Given the description of an element on the screen output the (x, y) to click on. 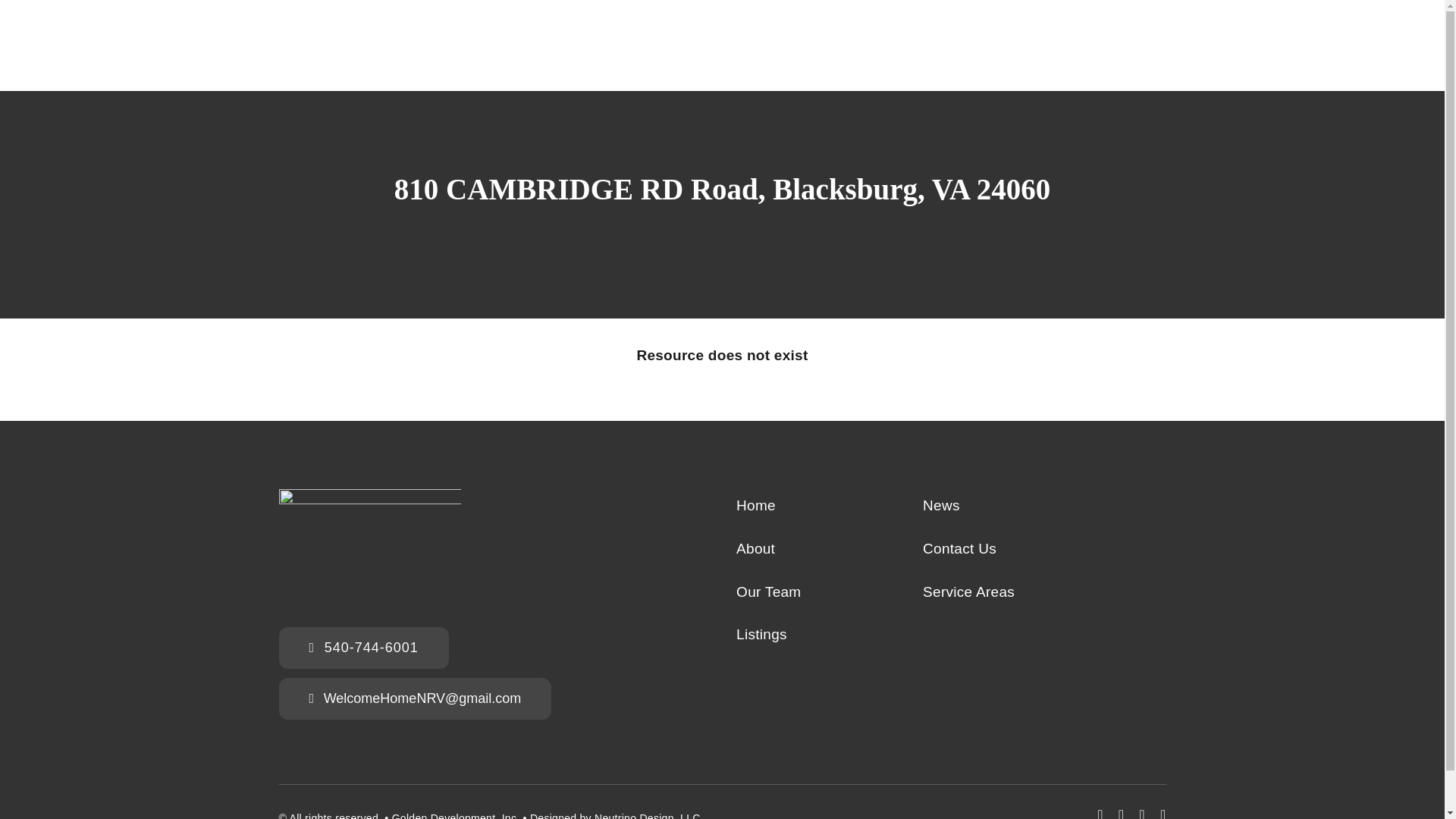
540-744-6001 (363, 648)
Service Areas (1002, 592)
Designed by Neutrino Design, LLC. (616, 815)
Listings (815, 635)
Home (815, 506)
News (1002, 506)
About (815, 550)
Contact Us (1002, 550)
Our Team (815, 592)
Logo-White-Teal (370, 543)
